Given the description of an element on the screen output the (x, y) to click on. 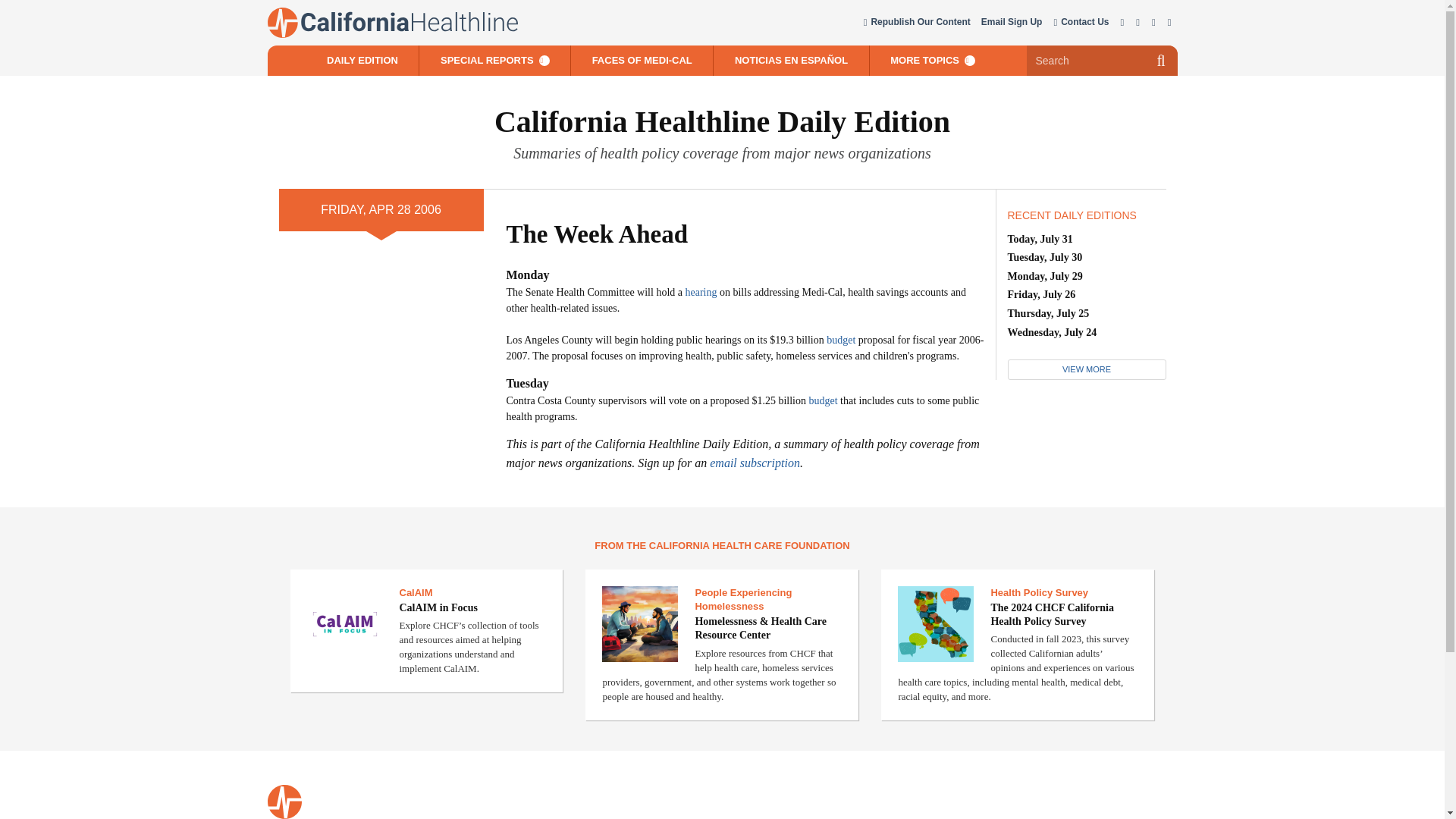
Republish Our Content (916, 22)
California Healthline (391, 22)
hearing (701, 292)
Today, July 31 (1039, 238)
FACES OF MEDI-CAL (641, 60)
California Healthline (283, 801)
DAILY EDITION (362, 60)
email subscription (754, 462)
Contact Us (1079, 22)
MORE TOPICS (932, 60)
budget (841, 339)
Monday, July 29 (1044, 276)
California Healthline Daily Edition (722, 121)
Friday, July 26 (1041, 294)
budget (822, 400)
